Given the description of an element on the screen output the (x, y) to click on. 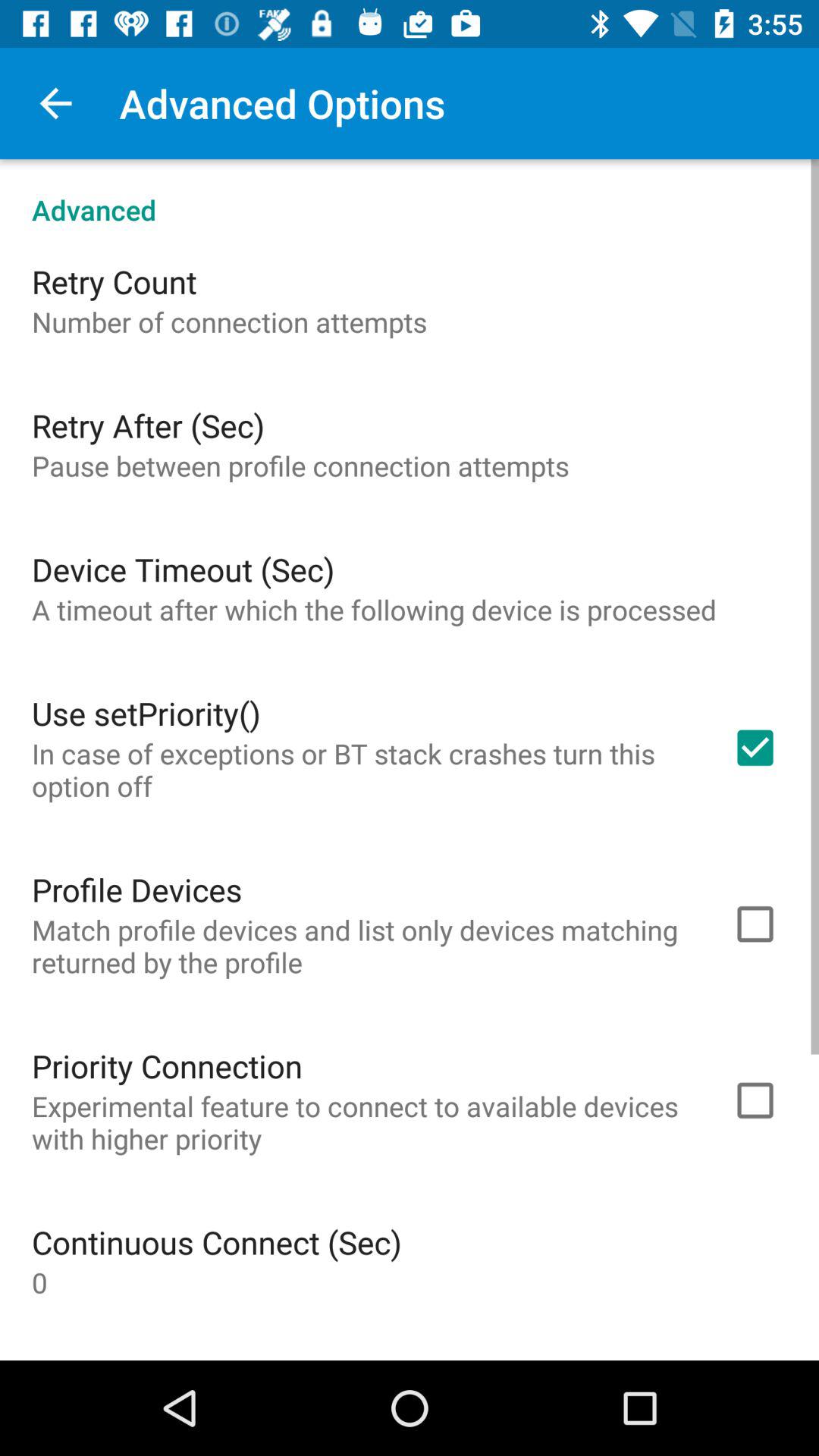
jump until continuous connect (sec) item (216, 1241)
